Given the description of an element on the screen output the (x, y) to click on. 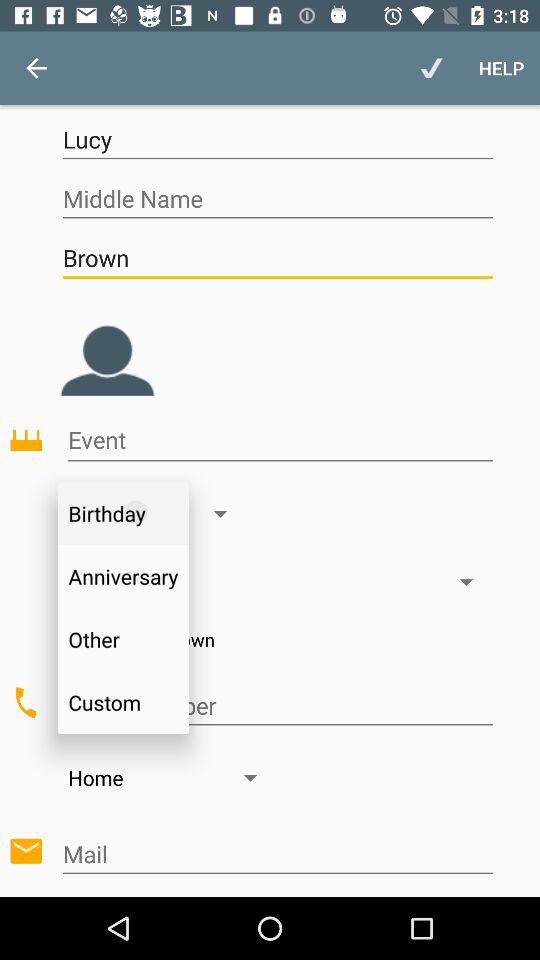
swipe to lucy (277, 139)
